Given the description of an element on the screen output the (x, y) to click on. 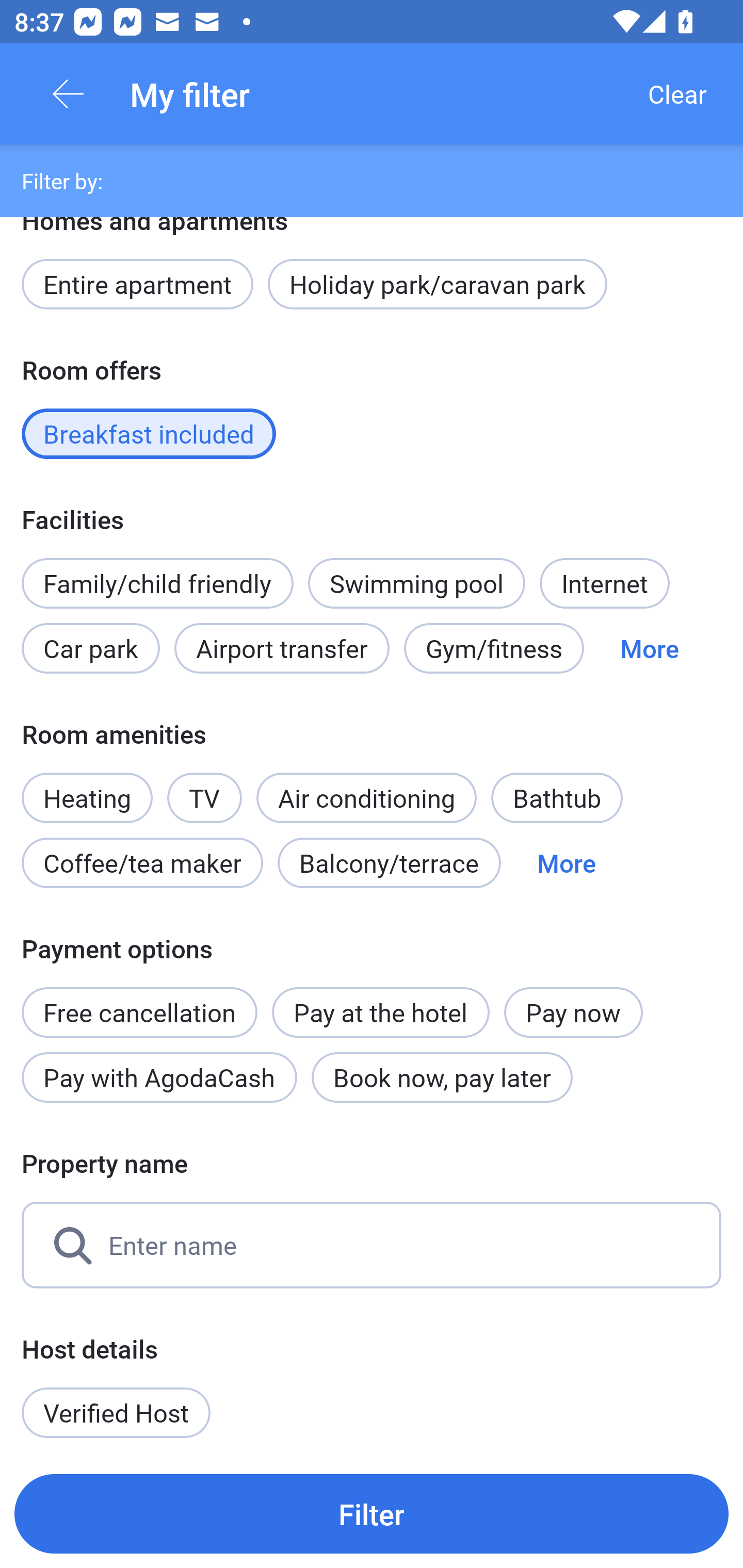
Clear (676, 93)
Entire apartment (137, 284)
Holiday park/caravan park (437, 284)
Family/child friendly (157, 583)
Swimming pool (416, 583)
Internet (604, 583)
Car park (90, 648)
Airport transfer (281, 648)
Gym/fitness (493, 648)
More (649, 648)
Heating (87, 787)
TV (204, 787)
Air conditioning (366, 798)
Bathtub (556, 798)
Coffee/tea maker (142, 863)
Balcony/terrace (388, 863)
More (566, 863)
Free cancellation (139, 1001)
Pay at the hotel (380, 1012)
Pay now (572, 1012)
Pay with AgodaCash (159, 1077)
Book now, pay later (441, 1077)
Enter name (371, 1244)
Verified Host (115, 1412)
Filter (371, 1513)
